Given the description of an element on the screen output the (x, y) to click on. 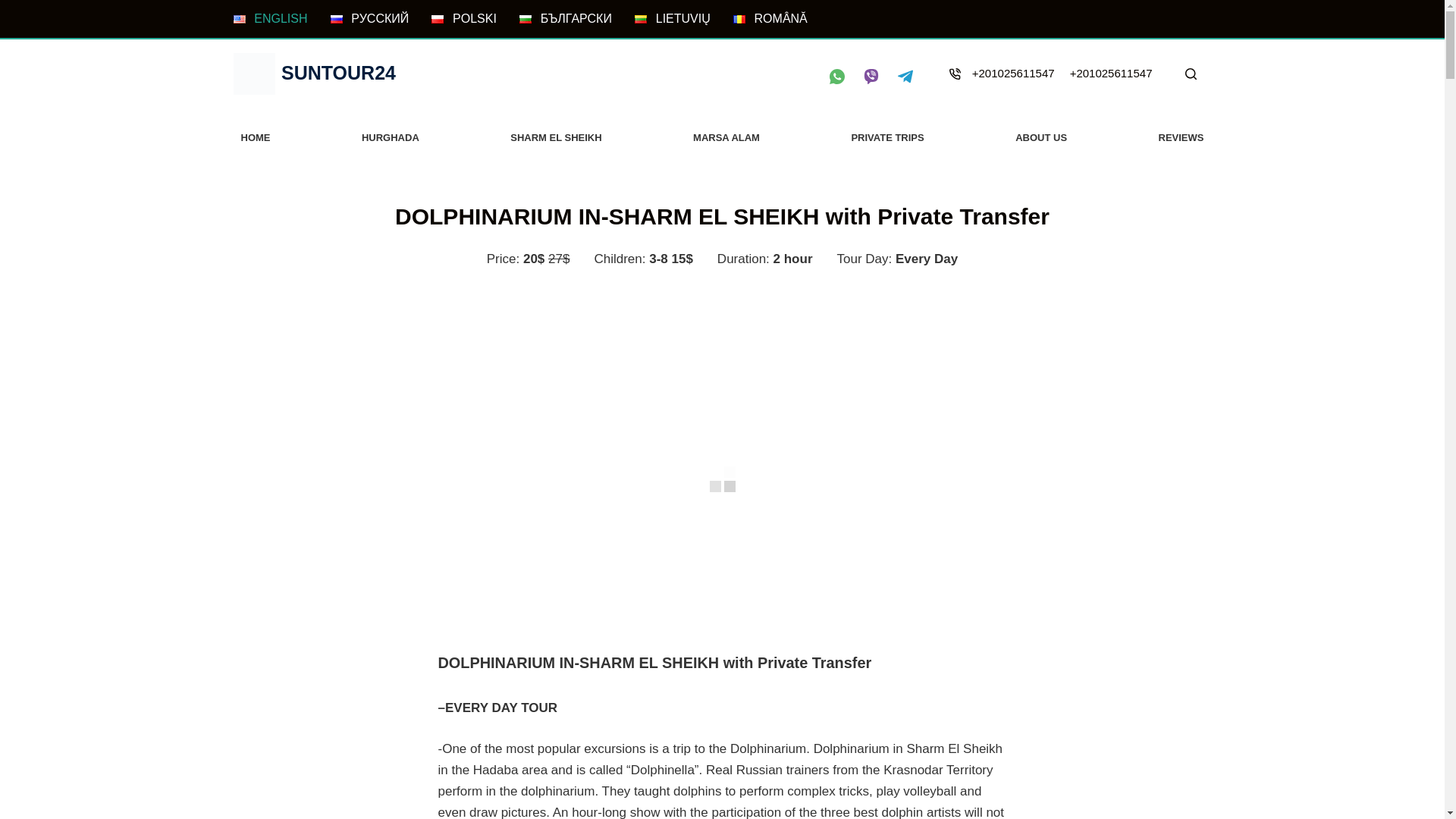
ENGLISH (269, 18)
REVIEWS (1181, 137)
SUNTOUR24 (338, 72)
POLSKI (463, 18)
ABOUT US (1040, 137)
HURGHADA (389, 137)
PRIVATE TRIPS (887, 137)
MARSA ALAM (726, 137)
SHARM EL SHEIKH (555, 137)
